Given the description of an element on the screen output the (x, y) to click on. 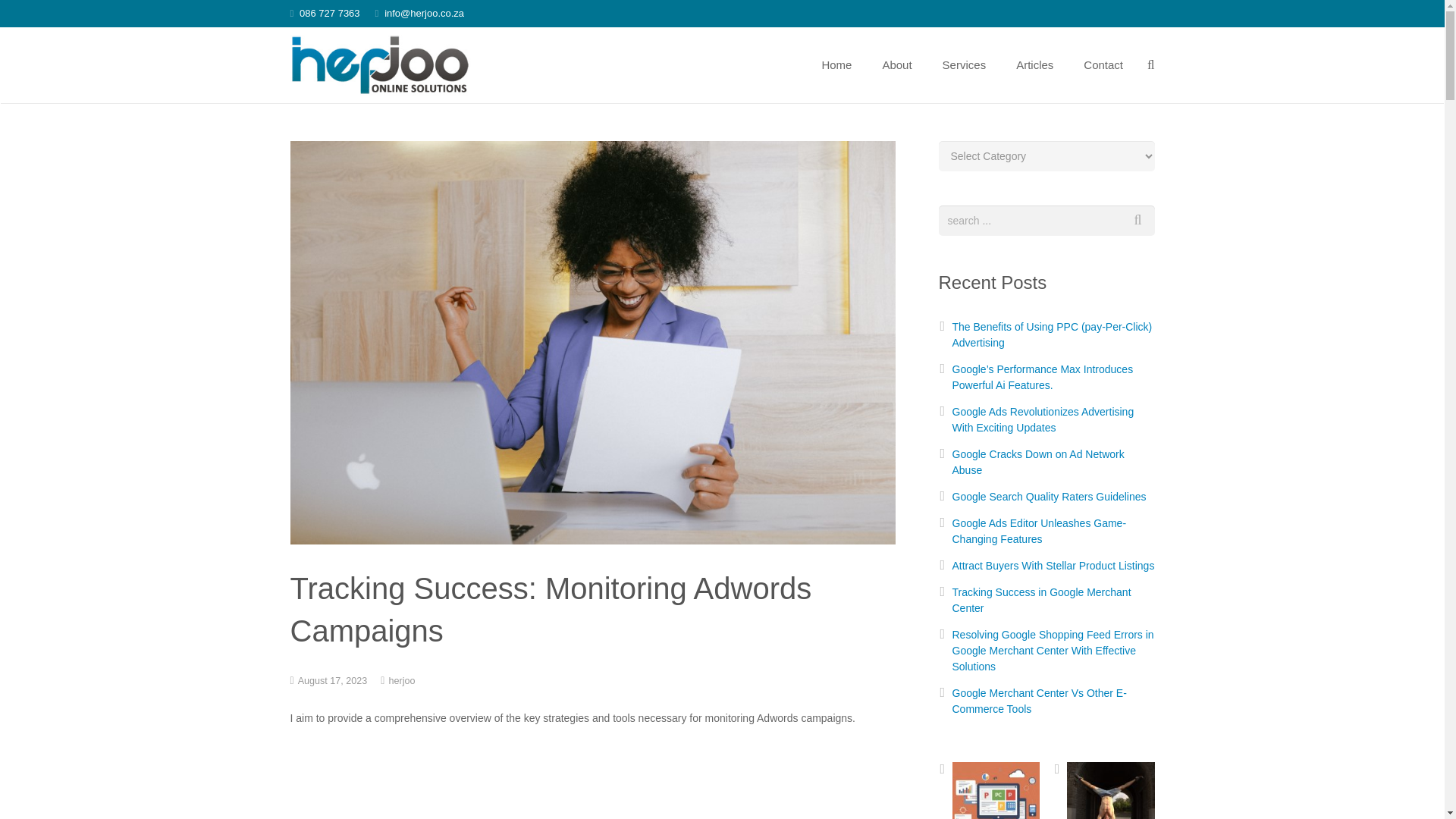
About (896, 64)
Articles (1034, 64)
Services (964, 64)
Home (836, 64)
